Given the description of an element on the screen output the (x, y) to click on. 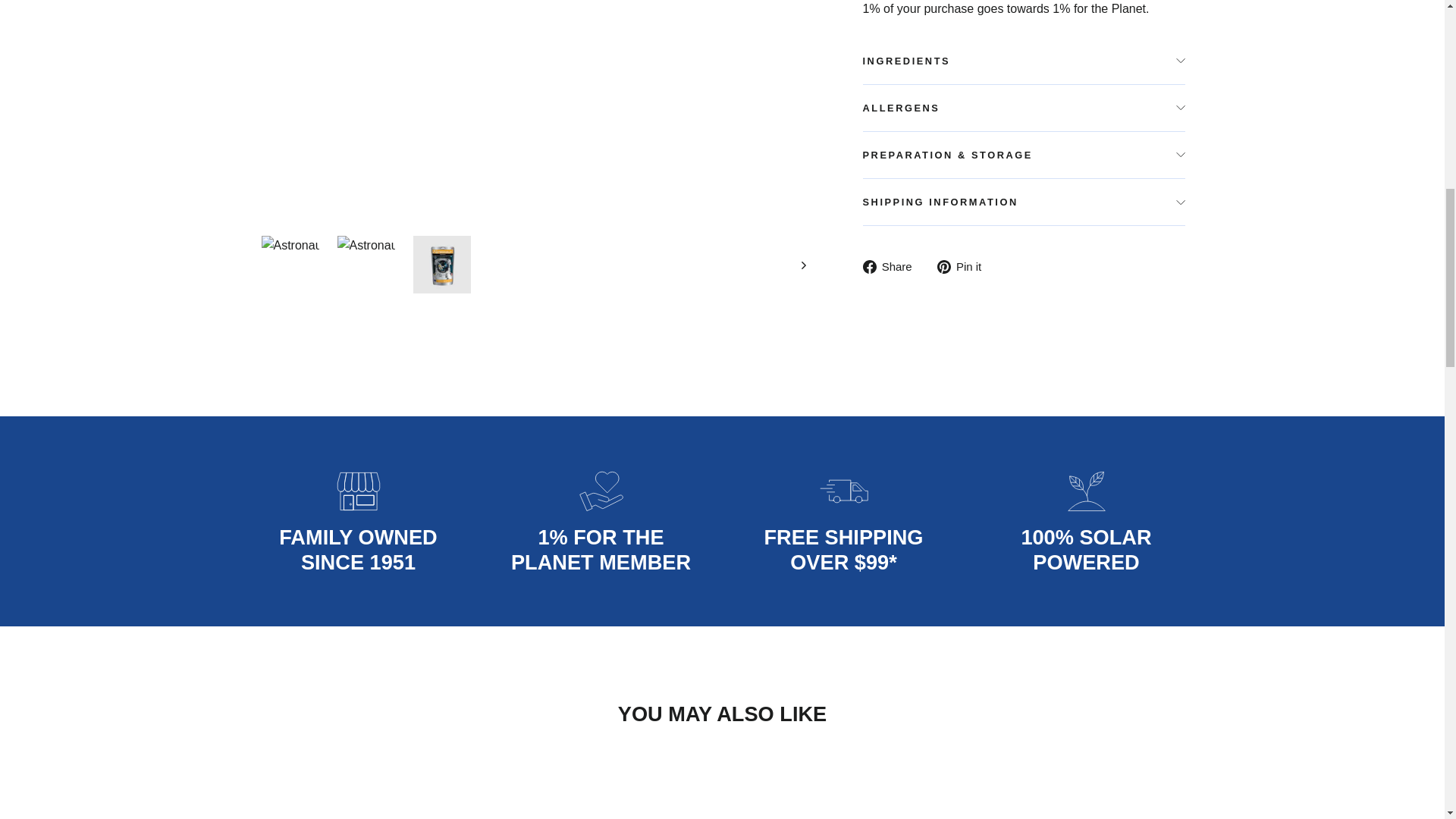
Share on Facebook (893, 266)
Pin on Pinterest (964, 266)
